Given the description of an element on the screen output the (x, y) to click on. 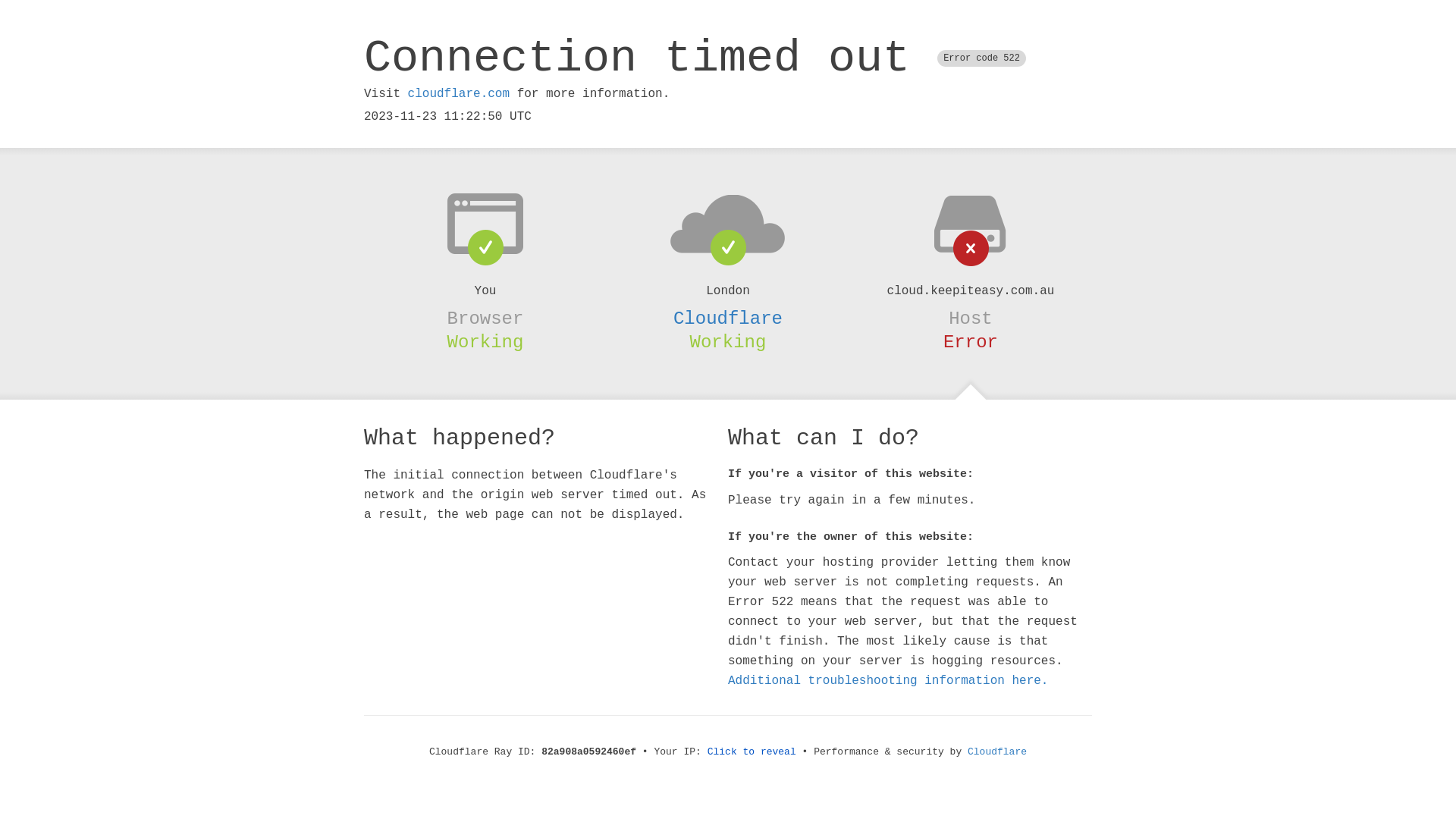
Cloudflare Element type: text (996, 751)
cloudflare.com Element type: text (458, 93)
Cloudflare Element type: text (727, 318)
Additional troubleshooting information here. Element type: text (888, 680)
Click to reveal Element type: text (751, 751)
